Given the description of an element on the screen output the (x, y) to click on. 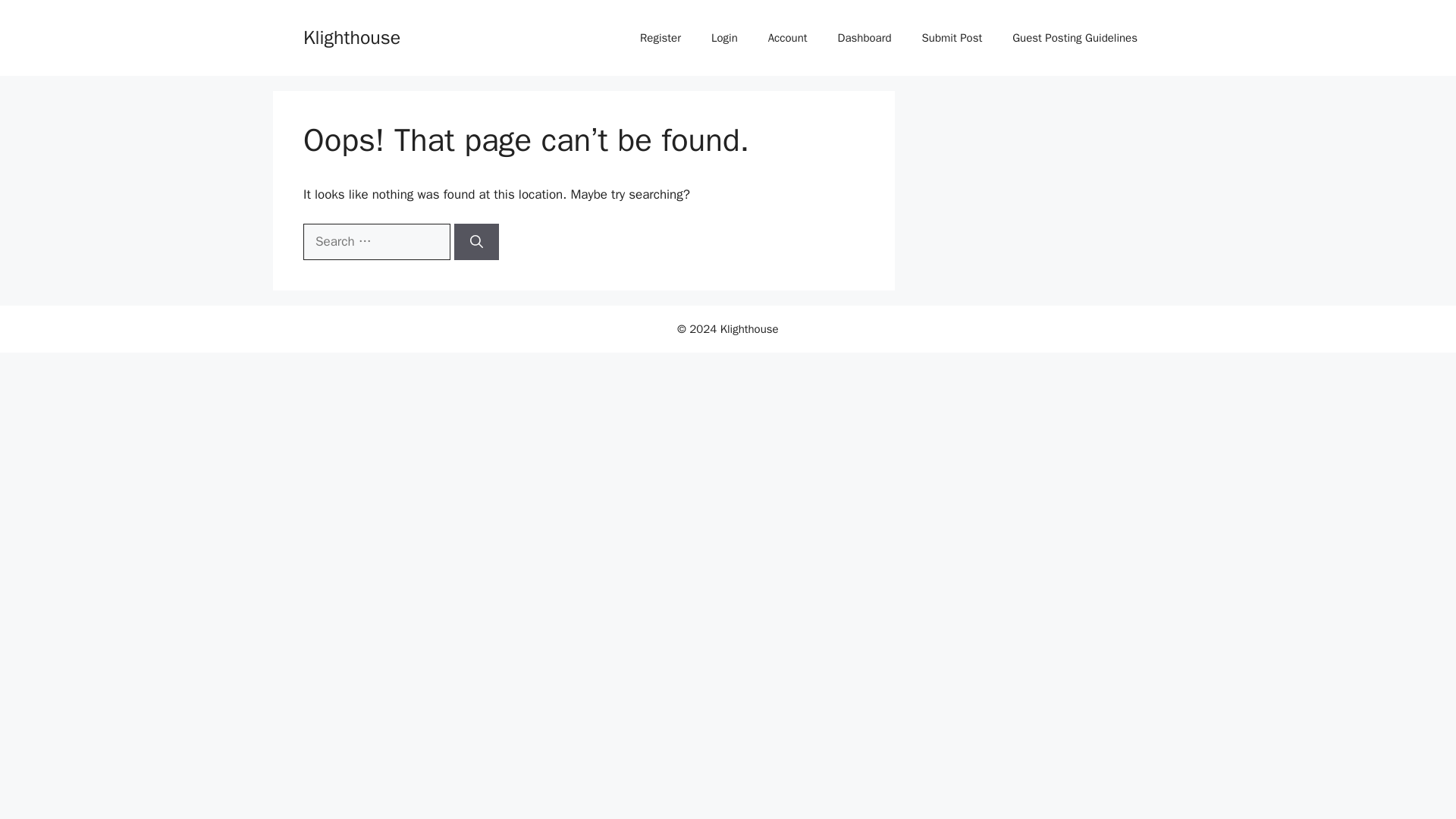
Login (723, 37)
Guest Posting Guidelines (1075, 37)
Dashboard (864, 37)
Submit Post (952, 37)
Account (787, 37)
Klighthouse (351, 37)
Register (659, 37)
Search for: (375, 241)
